Given the description of an element on the screen output the (x, y) to click on. 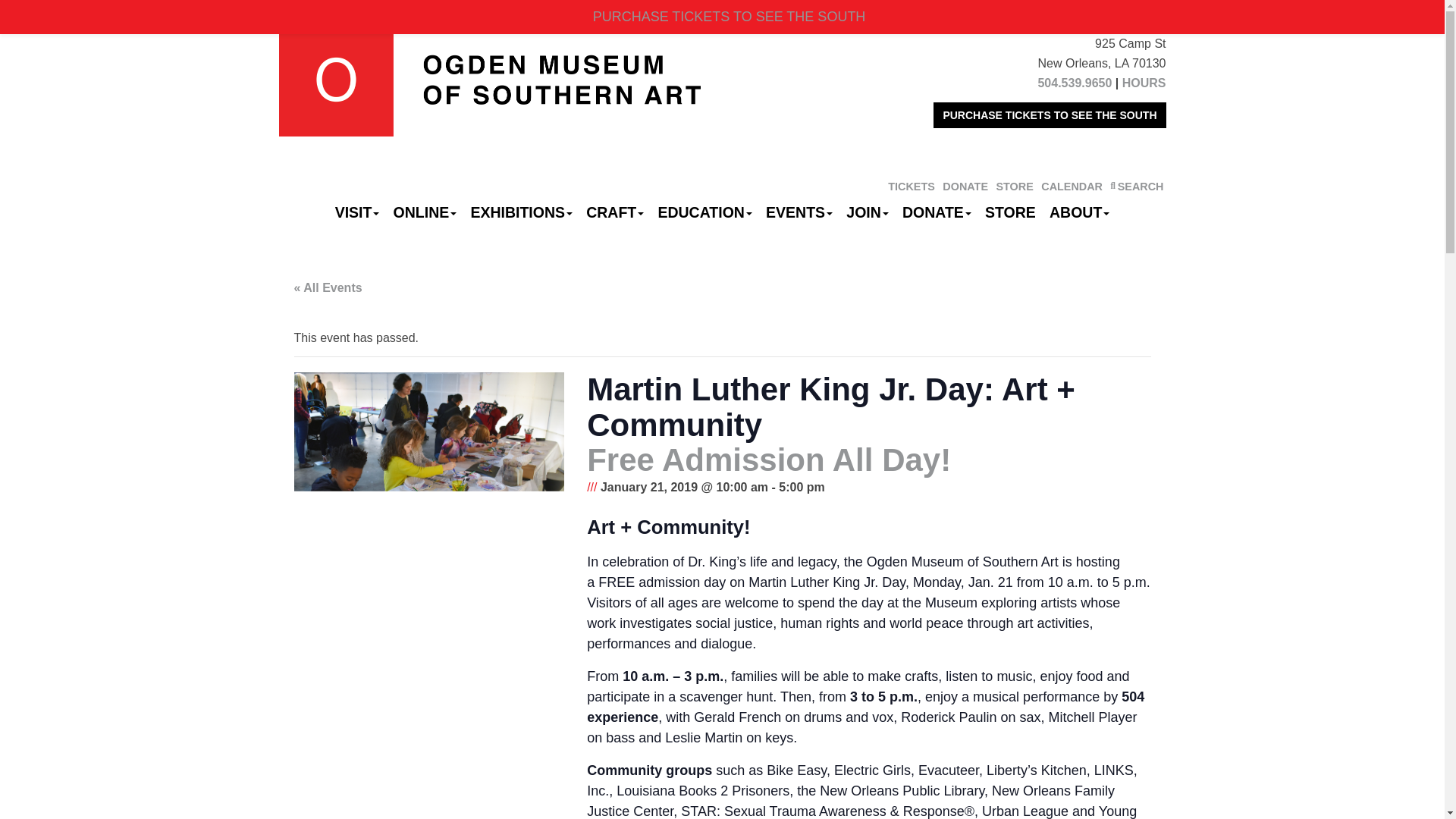
STORE (1013, 186)
VISIT (357, 212)
EXHIBITIONS (521, 212)
ONLINE (425, 212)
TICKETS (911, 186)
CRAFT (614, 212)
SEARCH (1136, 186)
HOURS (1144, 82)
PURCHASE TICKETS TO SEE THE SOUTH (1049, 114)
CALENDAR (1071, 186)
504.539.9650 (1074, 82)
EDUCATION (704, 212)
DONATE (965, 186)
